Given the description of an element on the screen output the (x, y) to click on. 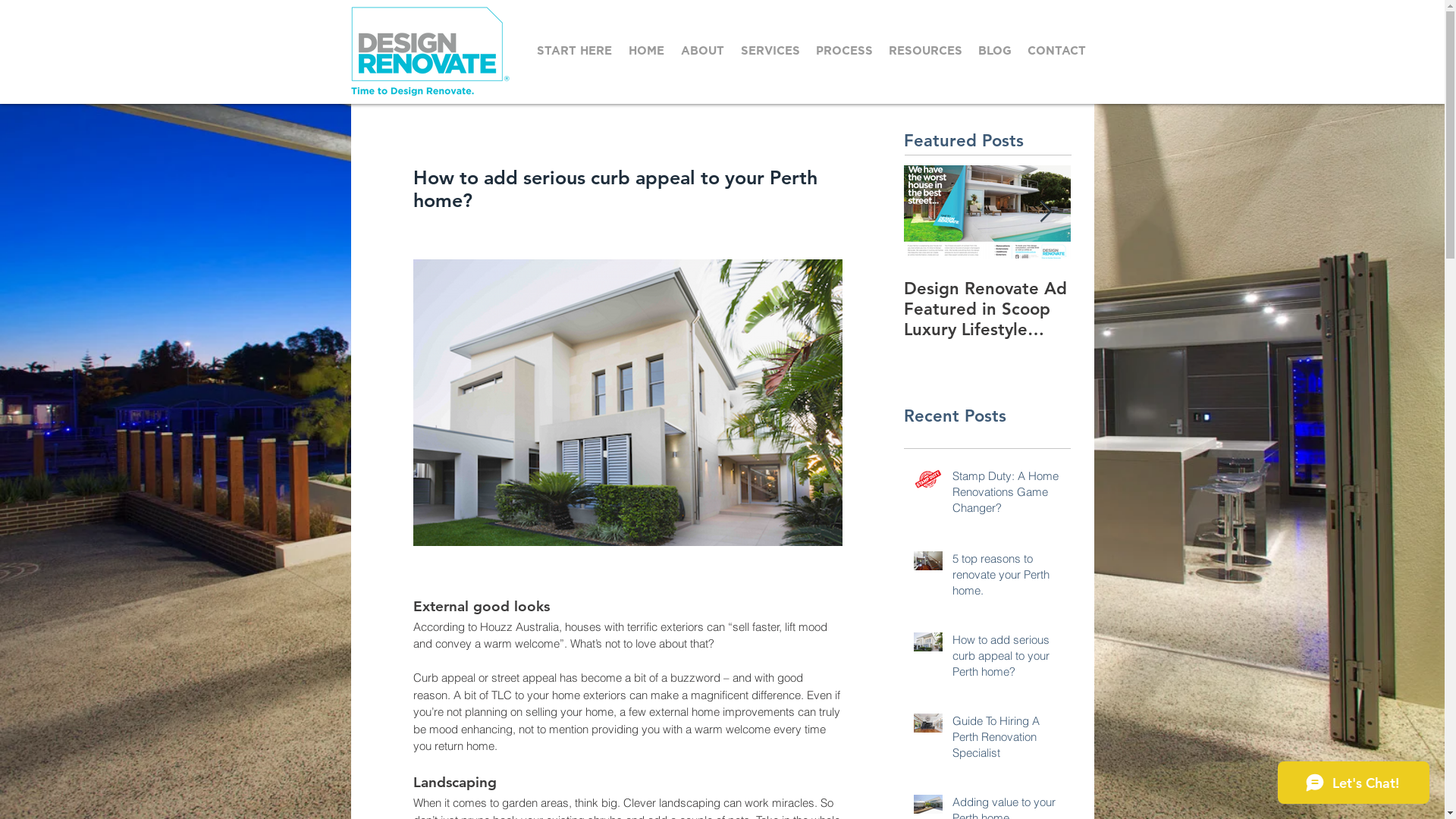
Stamp Duty: A Home Renovations Game Changer? Element type: text (981, 308)
ABOUT Element type: text (703, 51)
BLOG Element type: text (994, 51)
CONTACT Element type: text (1056, 51)
Stamp Duty: A Home Renovations Game Changer? Element type: text (1006, 494)
START HERE Element type: text (575, 51)
SERVICES Element type: text (769, 51)
HOME Element type: text (646, 51)
Guide To Hiring A Perth Renovation Specialist Element type: text (1006, 739)
5 top reasons to renovate your Perth home. Element type: text (1006, 577)
How to add serious curb appeal to your Perth home? Element type: text (1006, 658)
